Given the description of an element on the screen output the (x, y) to click on. 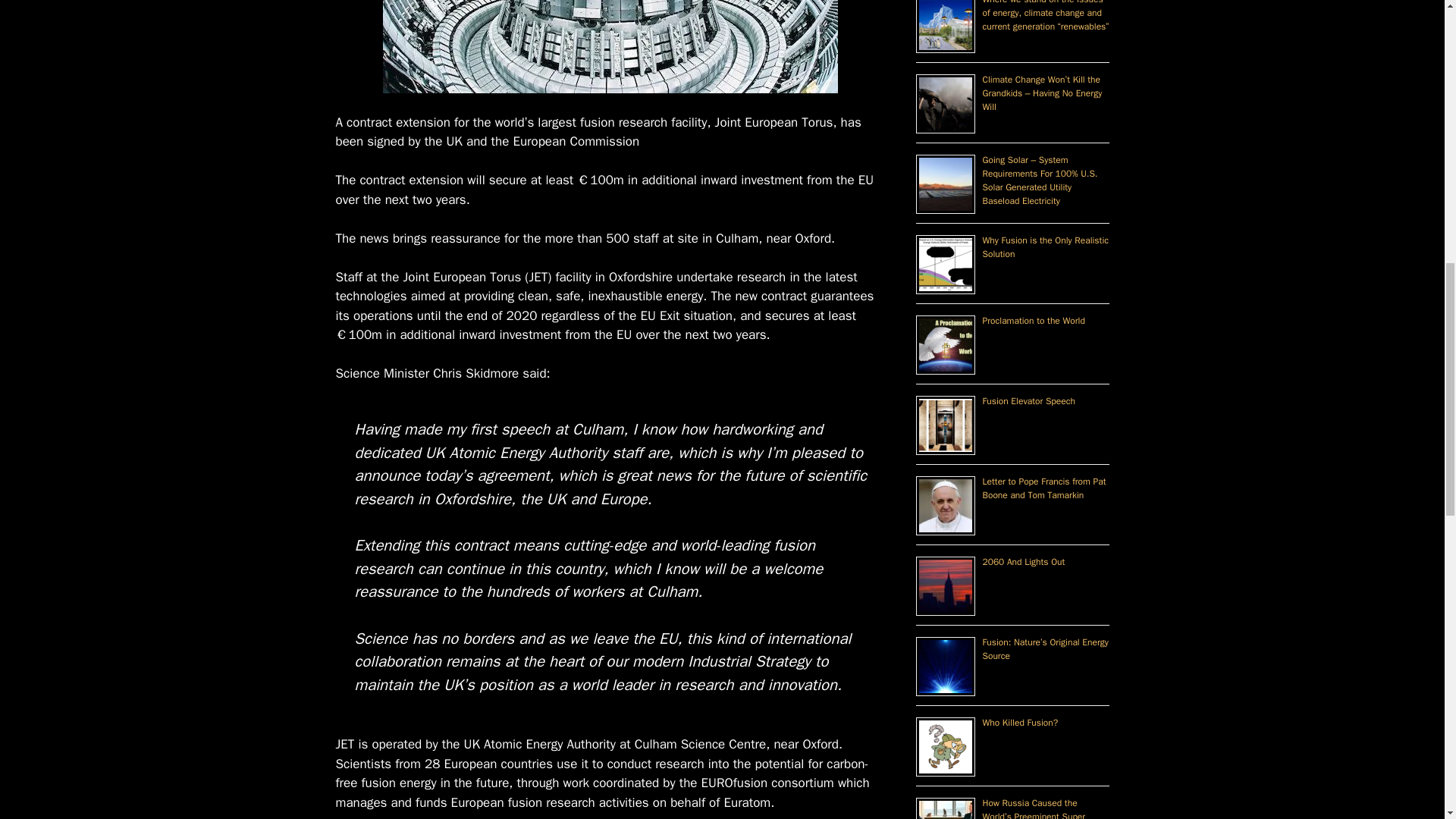
Scroll back to top (1406, 720)
